Given the description of an element on the screen output the (x, y) to click on. 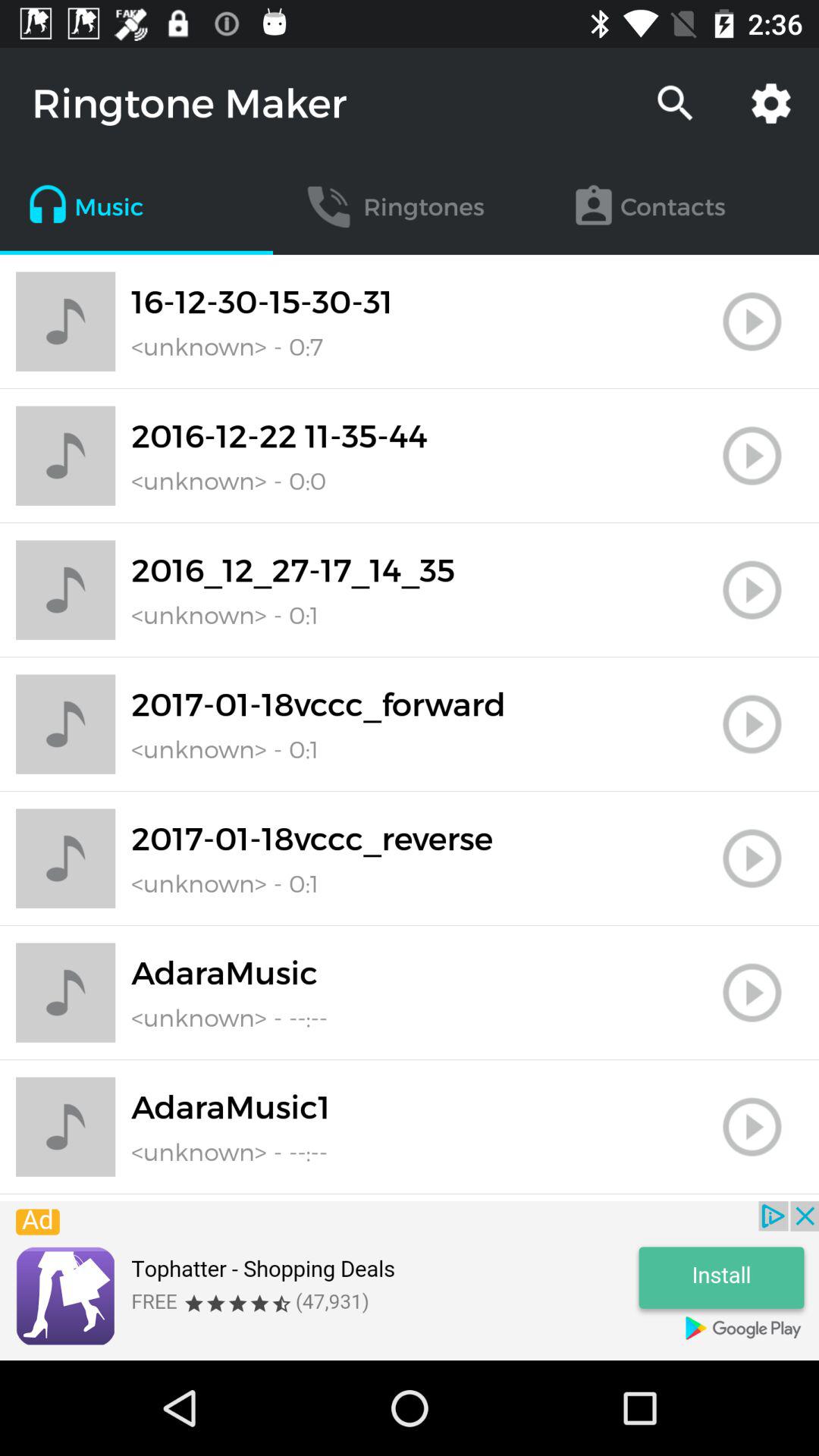
play file (752, 590)
